Given the description of an element on the screen output the (x, y) to click on. 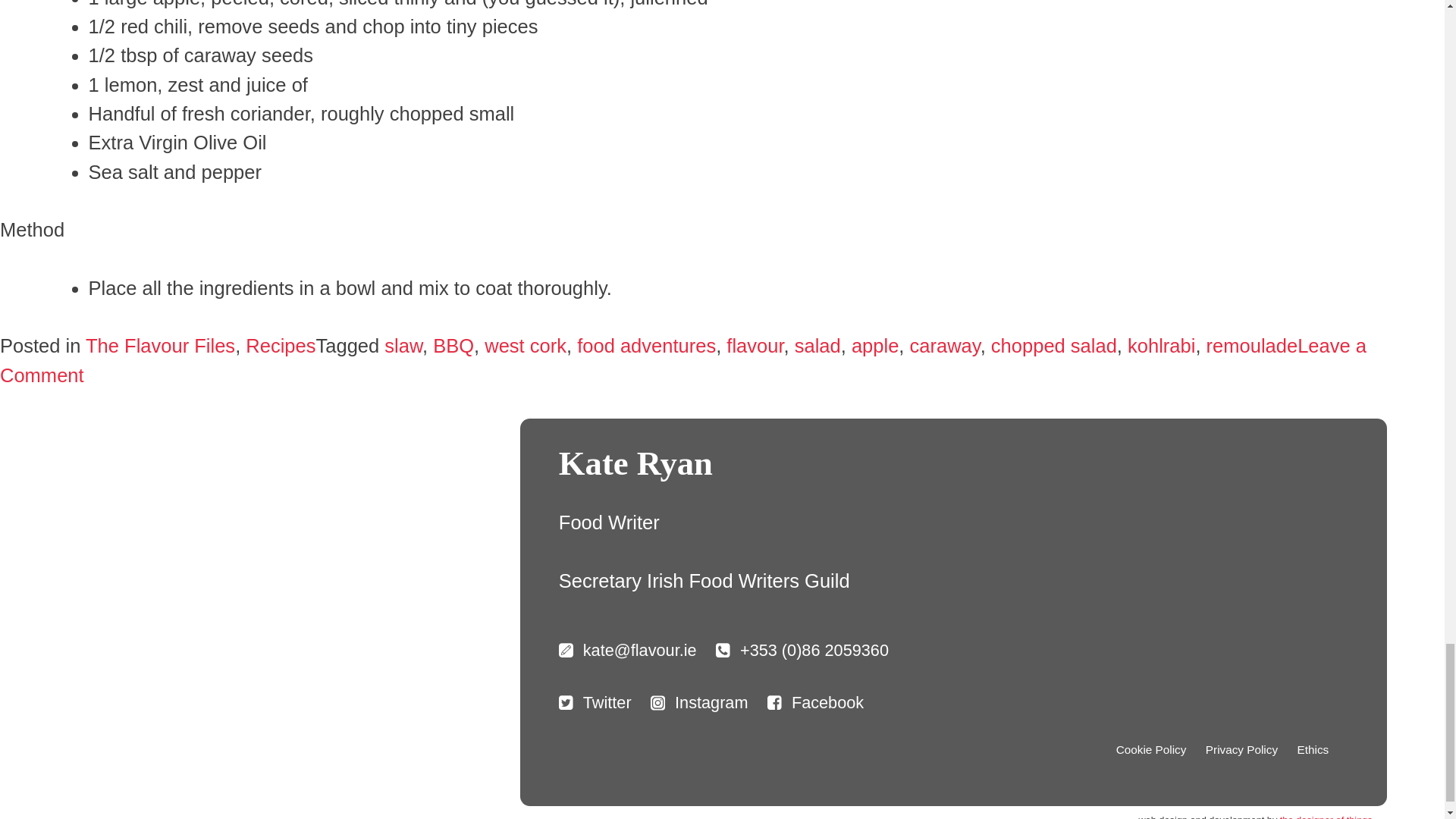
chopped salad (1053, 345)
salad (817, 345)
remoulade (1252, 345)
west cork (525, 345)
food adventures (646, 345)
Recipes (280, 345)
Twitter (595, 702)
The Flavour Files (159, 345)
apple (874, 345)
caraway (944, 345)
kohlrabi (1160, 345)
slaw (403, 345)
flavour (754, 345)
Instagram (699, 702)
Facebook (815, 702)
